Given the description of an element on the screen output the (x, y) to click on. 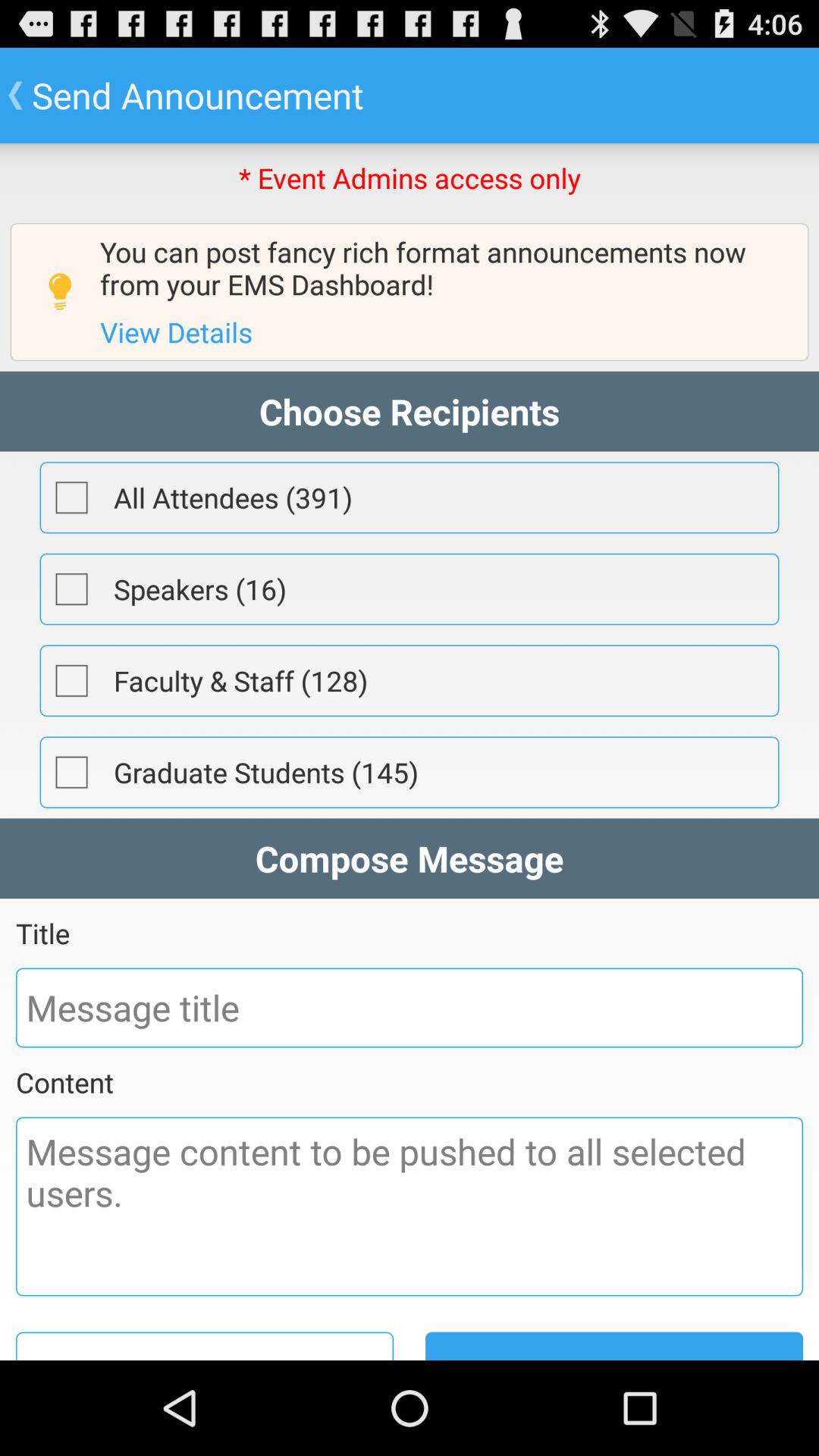
enter message title (409, 1007)
